Given the description of an element on the screen output the (x, y) to click on. 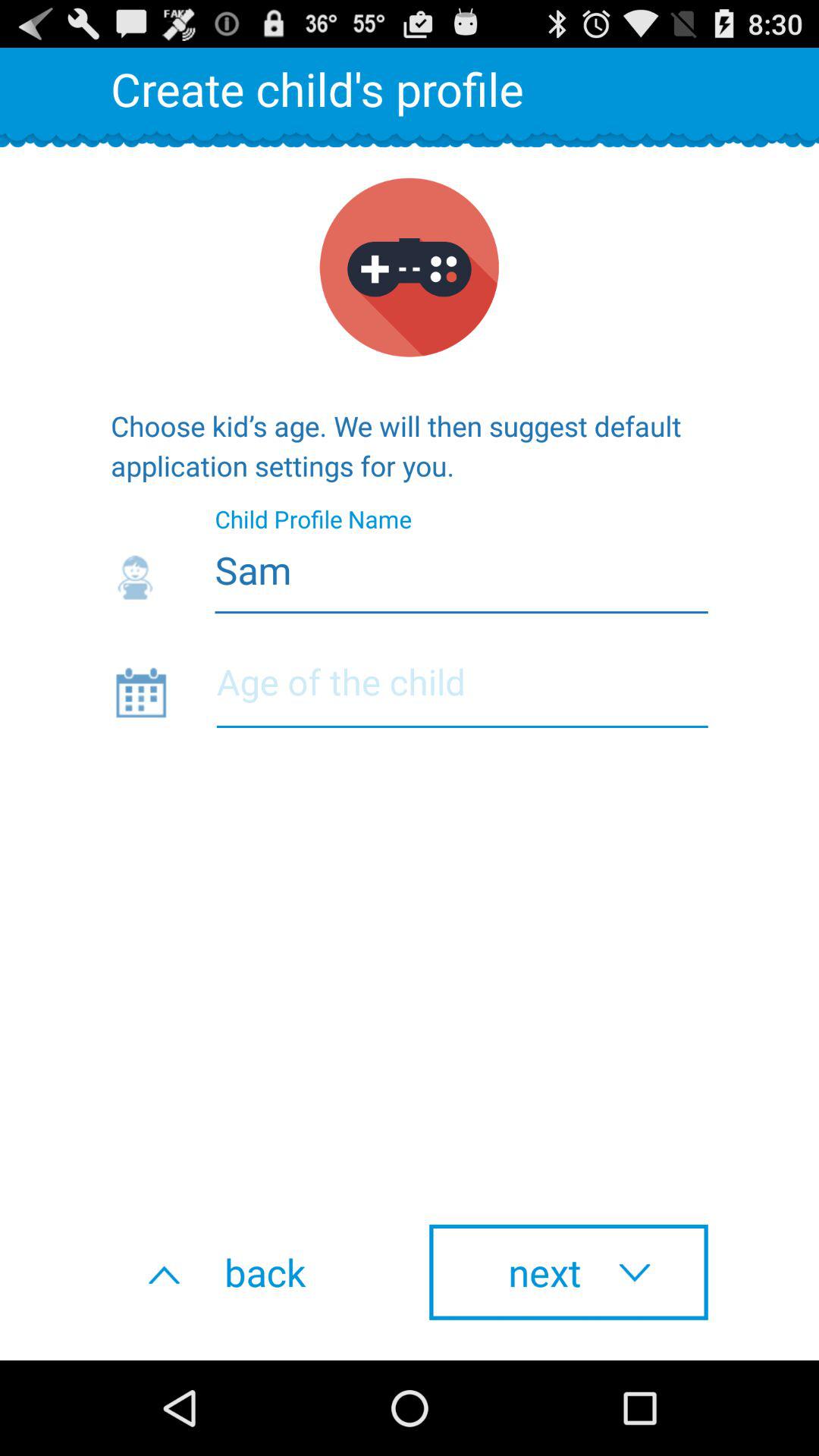
enter childs 's age (462, 691)
